Given the description of an element on the screen output the (x, y) to click on. 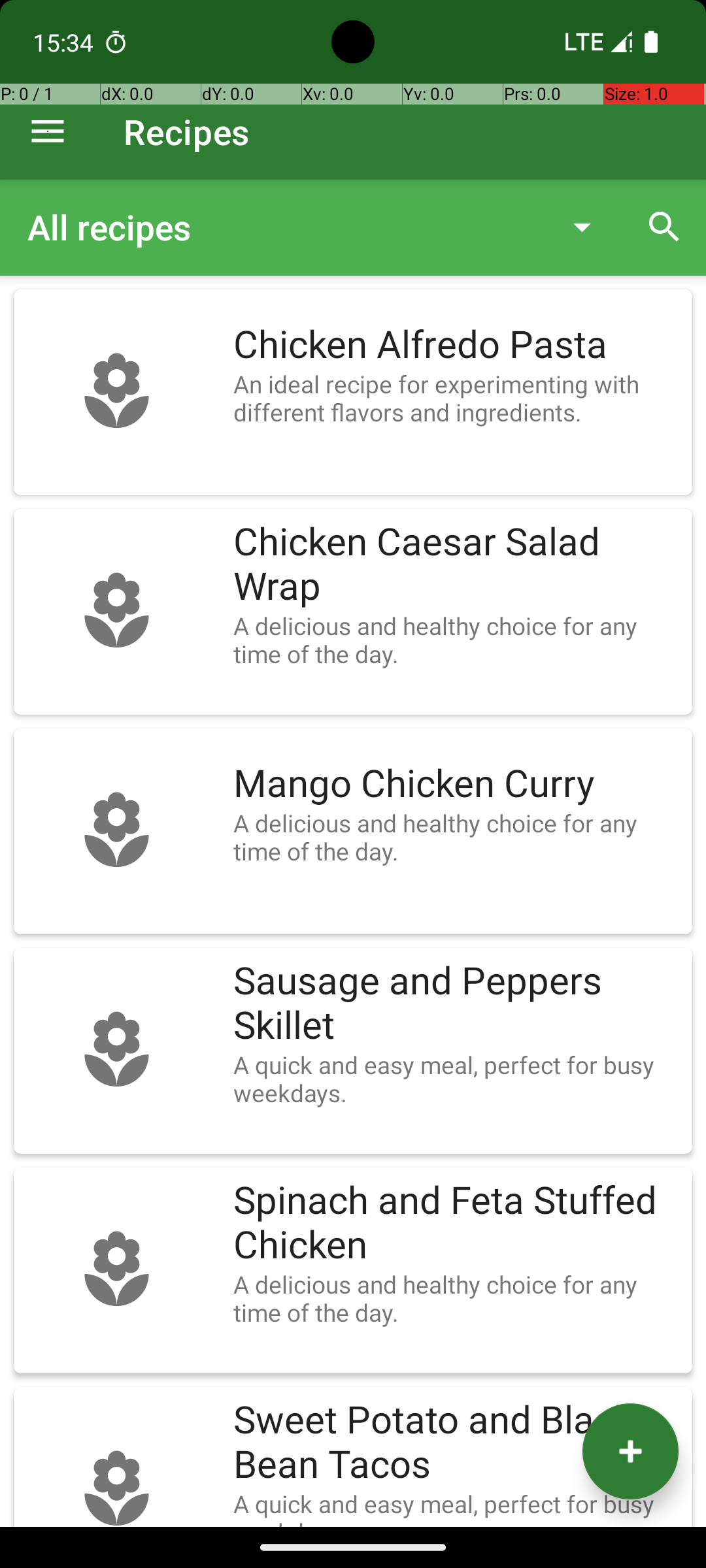
Mango Chicken Curry Element type: android.widget.TextView (455, 783)
Sausage and Peppers Skillet Element type: android.widget.TextView (455, 1003)
Spinach and Feta Stuffed Chicken Element type: android.widget.TextView (455, 1222)
Sweet Potato and Black Bean Tacos Element type: android.widget.TextView (455, 1442)
